Given the description of an element on the screen output the (x, y) to click on. 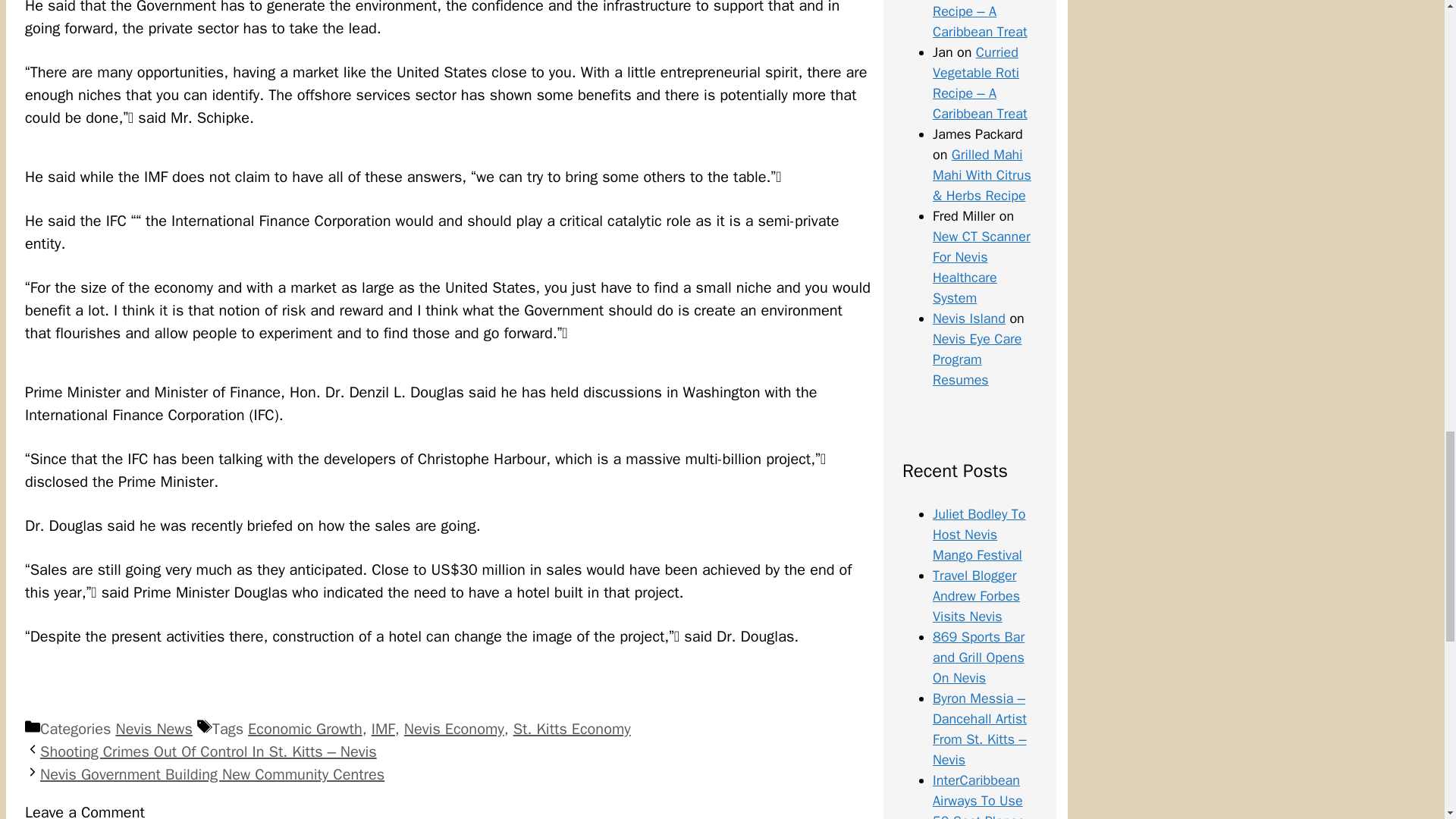
St. Kitts Economy (571, 728)
Economic Growth (304, 728)
Nevis Economy (453, 728)
New CT Scanner For Nevis Healthcare System (981, 267)
IMF (382, 728)
Nevis Government Building New Community Centres (212, 773)
Nevis News (153, 728)
